Given the description of an element on the screen output the (x, y) to click on. 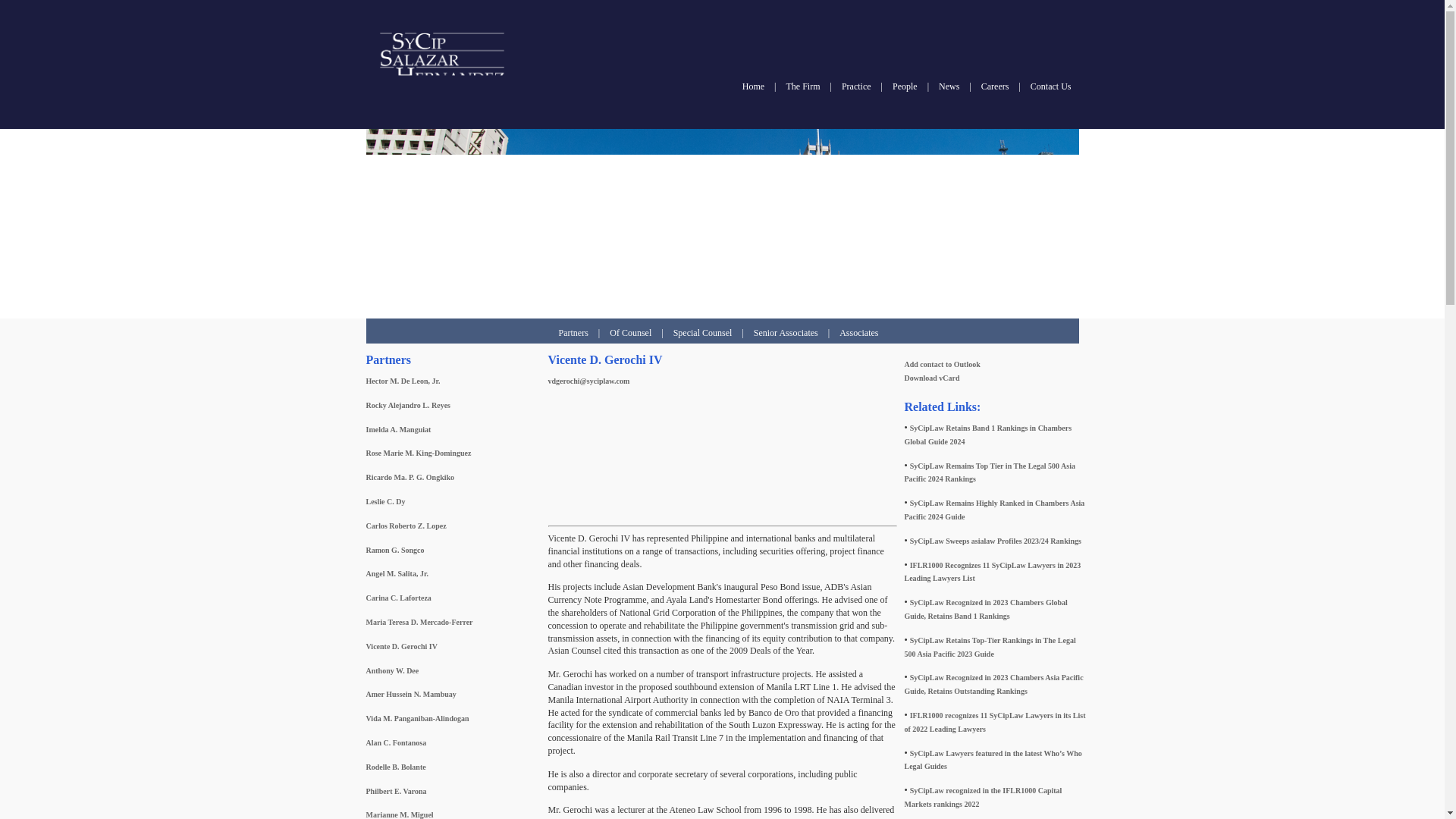
Practice Areas (855, 86)
Alan C. Fontanosa (395, 742)
Senior Associates (786, 332)
Special Counsel (702, 332)
Associates (858, 332)
Contact SyCipLaw (1050, 86)
Anthony W. Dee (392, 670)
Carina C. Laforteza (397, 597)
Partners (573, 332)
Imelda A. Manguiat (397, 429)
Home (753, 86)
Carlos Roberto Z. Lopez (405, 525)
Vida M. Panganiban-Alindogan (416, 718)
Angel M. Salita, Jr. (396, 573)
News (949, 86)
